Given the description of an element on the screen output the (x, y) to click on. 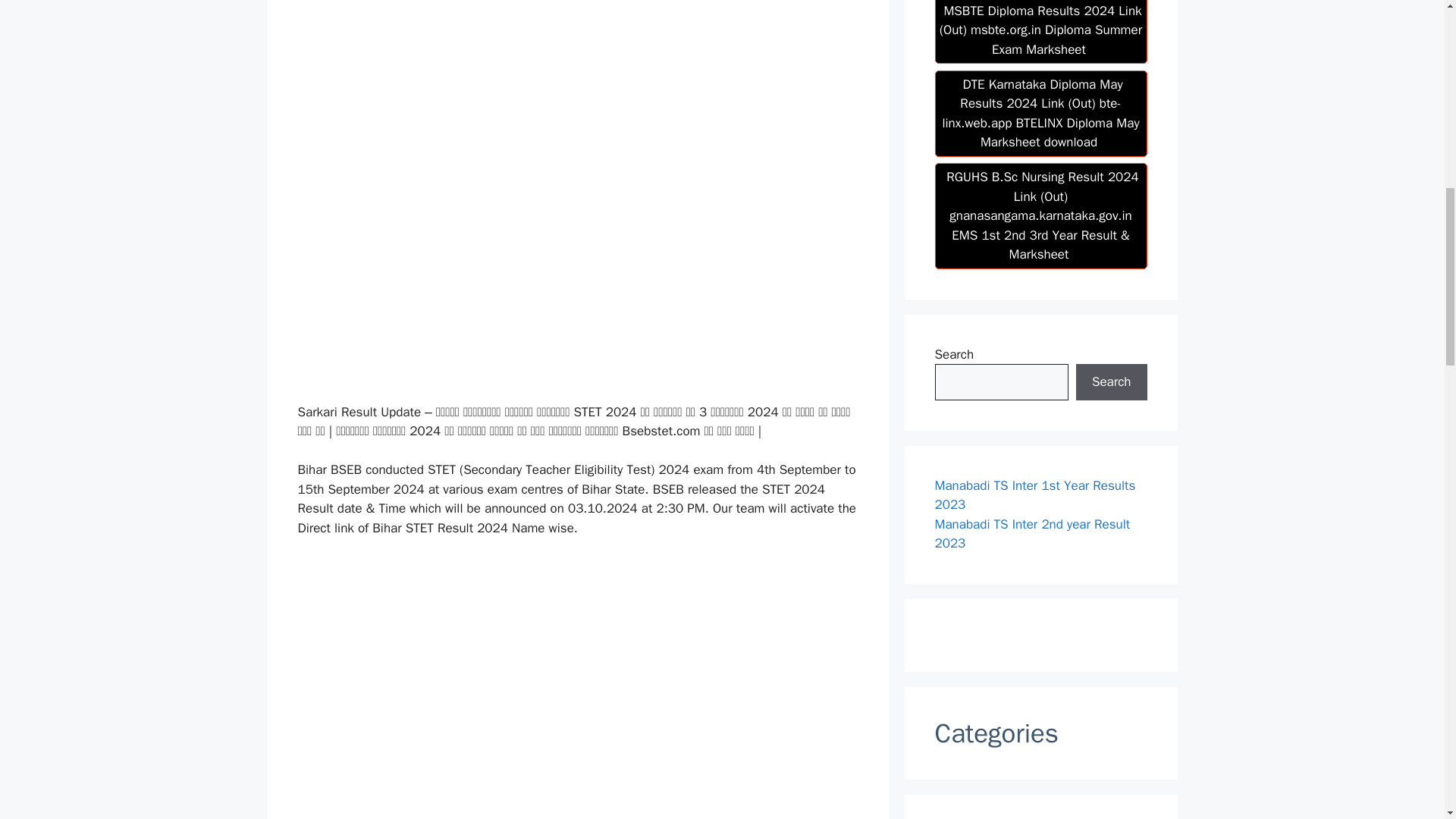
Manabadi TS Inter 1st Year Results 2023 (1034, 495)
Scroll back to top (1406, 720)
Manabadi TS Inter 2nd year Result 2023 (1031, 534)
Search (1111, 381)
